Given the description of an element on the screen output the (x, y) to click on. 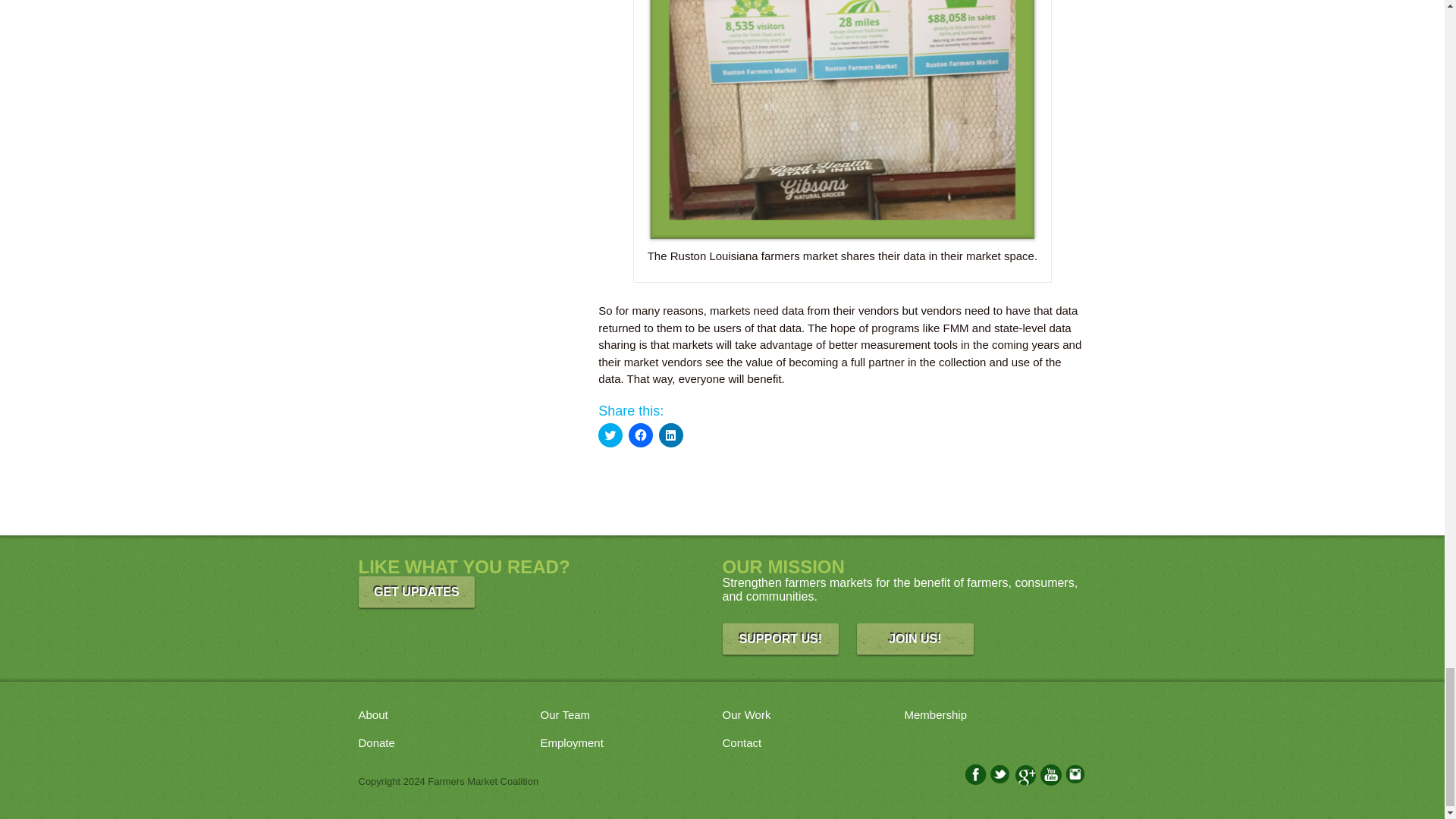
Click to share on LinkedIn (670, 435)
Click to share on Twitter (610, 435)
Click to share on Facebook (640, 435)
